Given the description of an element on the screen output the (x, y) to click on. 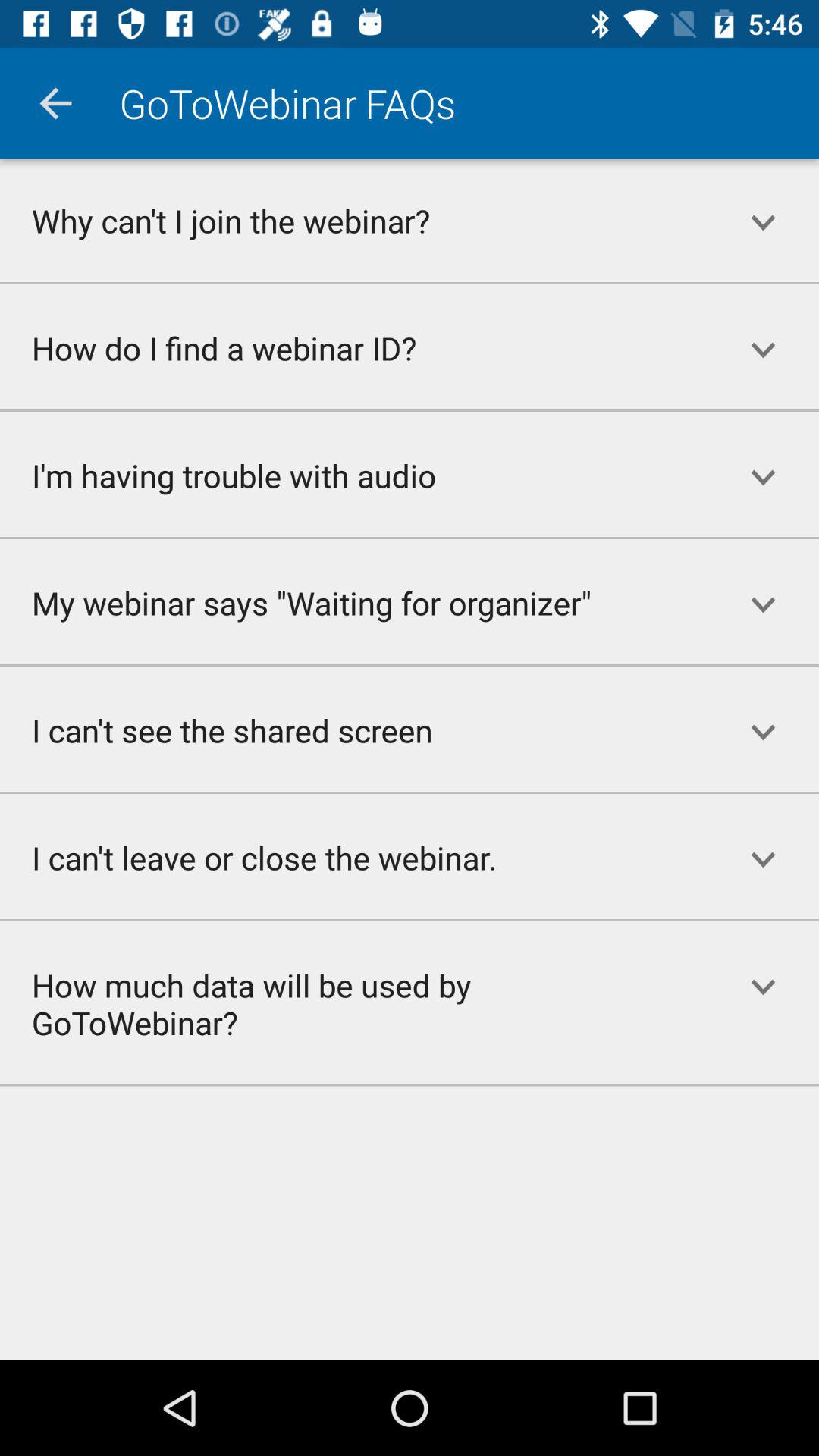
flip until the how much data icon (353, 1003)
